Given the description of an element on the screen output the (x, y) to click on. 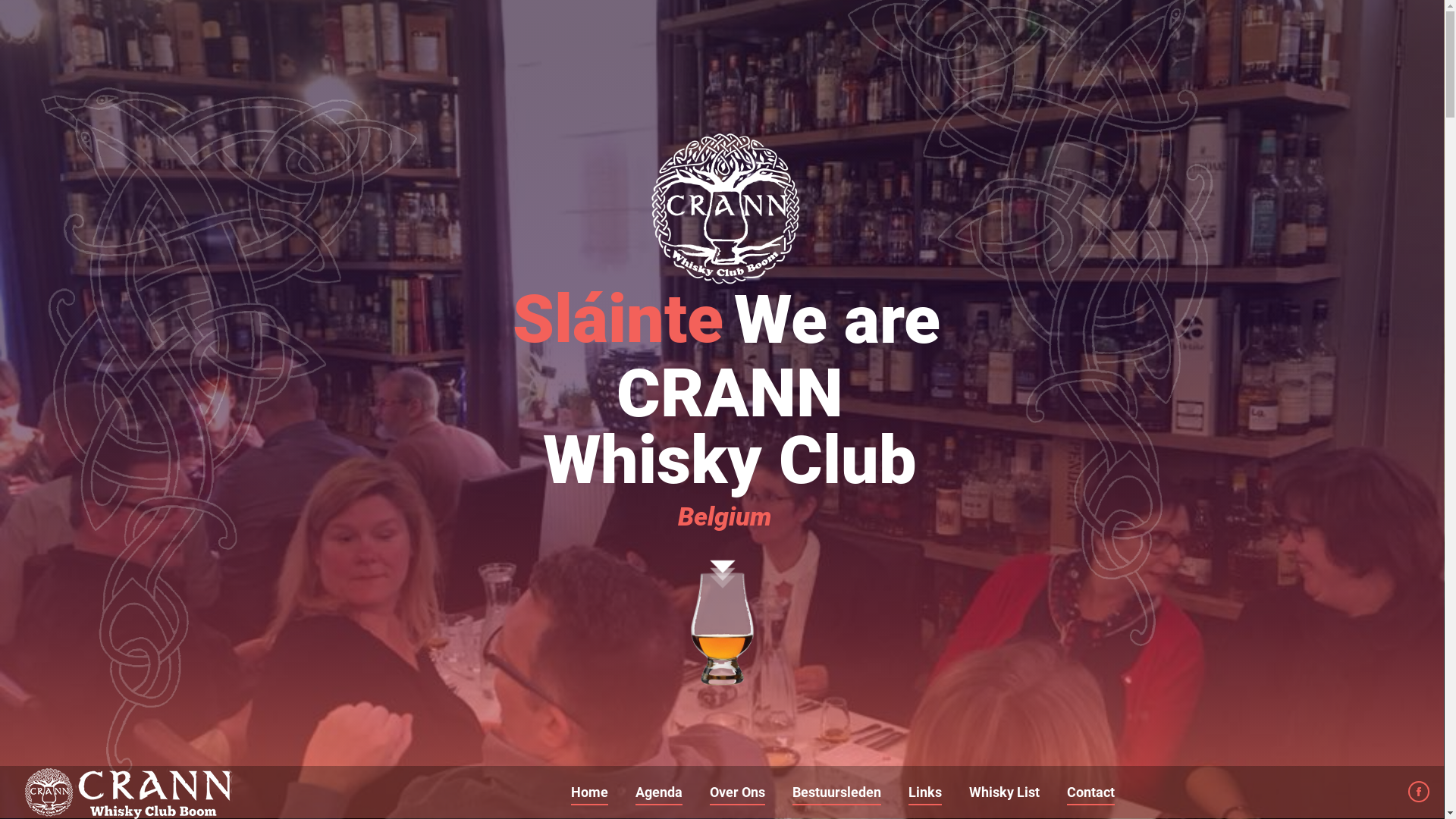
Whisky List Element type: text (1004, 792)
Contact Element type: text (1090, 792)
Agenda Element type: text (658, 792)
Bestuursleden Element type: text (835, 792)
Links Element type: text (924, 792)
Over Ons Element type: text (737, 792)
Facebook page opens in new window Element type: text (1418, 791)
Home Element type: text (588, 792)
